Given the description of an element on the screen output the (x, y) to click on. 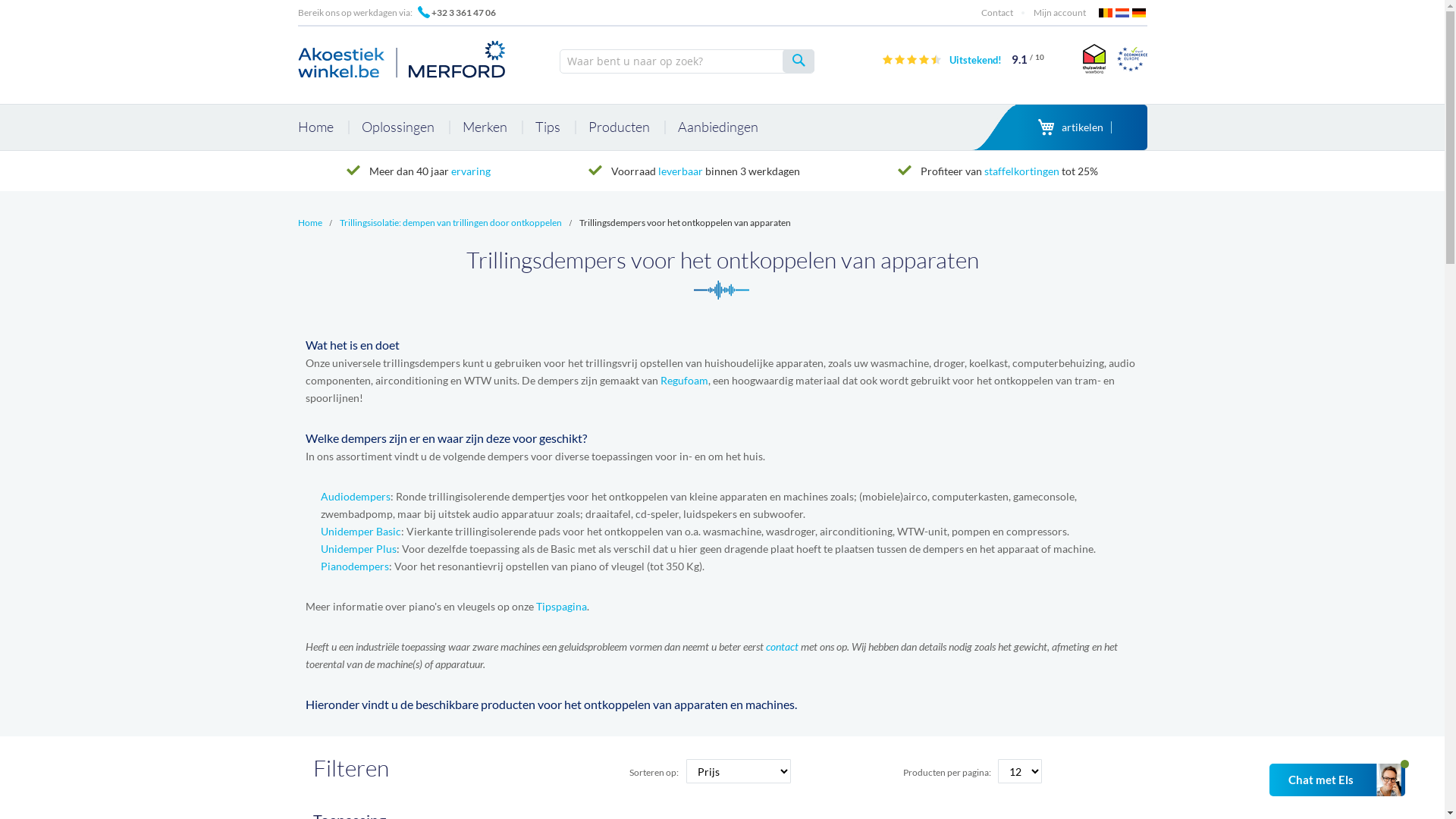
Thuiswinkel Waarborg Element type: text (1091, 58)
Pianodempers Element type: text (354, 565)
Chat met Els Element type: text (1337, 779)
Unidemper Basic Element type: text (360, 530)
Producten Element type: text (619, 127)
Unidemper Plus Element type: text (357, 548)
Aanbiedingen Element type: text (717, 127)
staffelkortingen Element type: text (1021, 170)
Akoestiekwinkel by Merford Element type: hover (401, 59)
Home Element type: text (309, 222)
Trillingsisolatie: dempen van trillingen door ontkoppelen Element type: text (450, 222)
Regufoam Element type: text (683, 379)
Tips Element type: text (547, 127)
Ecommerce Europe Element type: text (1131, 58)
artikelen Element type: text (1074, 127)
DE Element type: text (1138, 12)
leverbaar Element type: text (680, 170)
Oplossingen Element type: text (396, 127)
+32 3 361 47 06 Element type: text (462, 12)
Mijn account Element type: text (1058, 12)
NL Element type: text (1121, 12)
BE Element type: text (1105, 12)
contact  Element type: text (782, 646)
Audiodempers Element type: text (354, 495)
Tipspagina Element type: text (560, 605)
Contact Element type: text (997, 12)
ervaring Element type: text (470, 170)
Merken Element type: text (484, 127)
Uitstekend! 9.1 / 10 Element type: text (996, 59)
Zoek Element type: text (798, 60)
Akoestiekwinkel by Merford Element type: hover (403, 56)
Home Element type: text (321, 127)
